Given the description of an element on the screen output the (x, y) to click on. 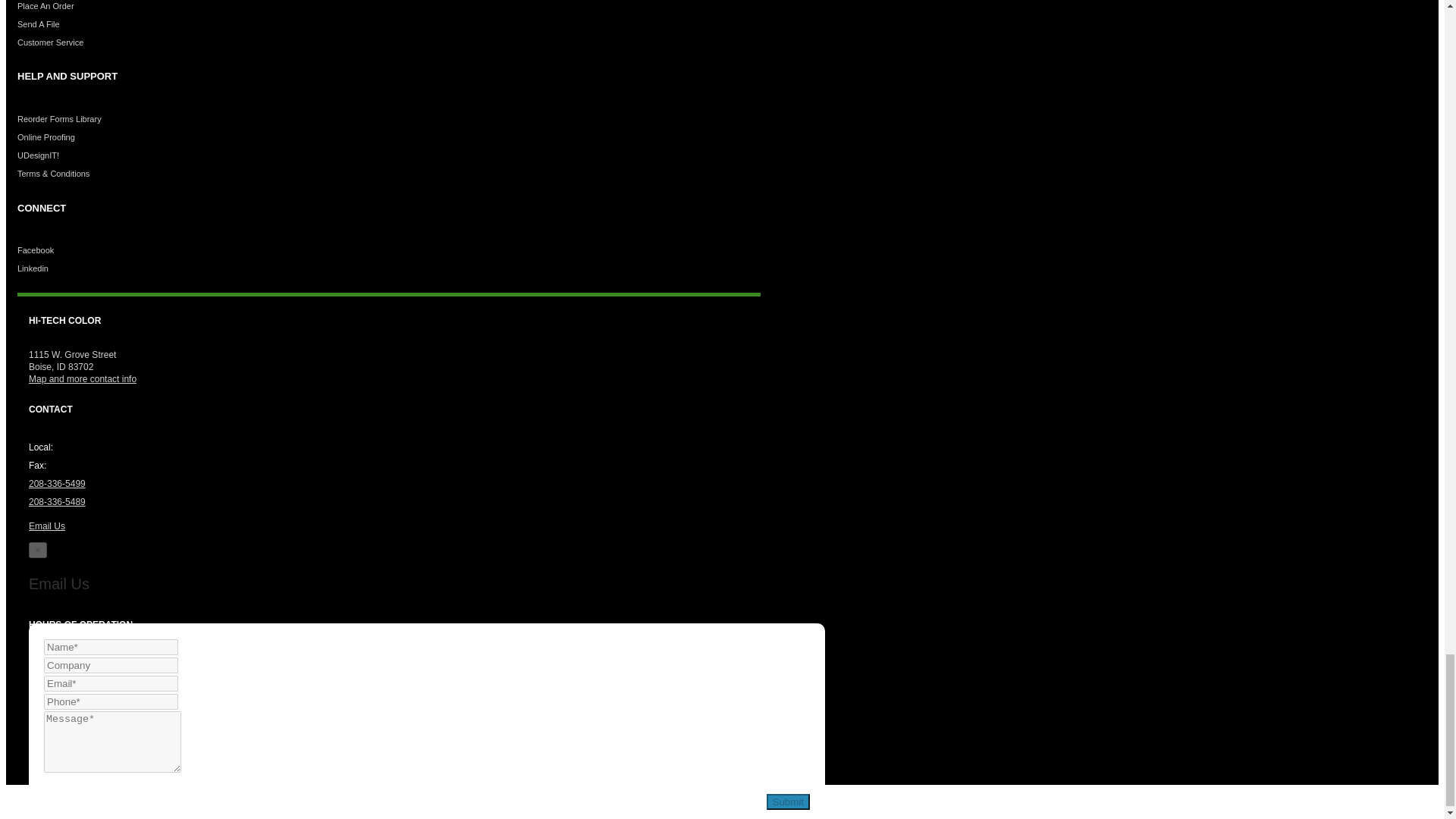
Submit (788, 801)
